Given the description of an element on the screen output the (x, y) to click on. 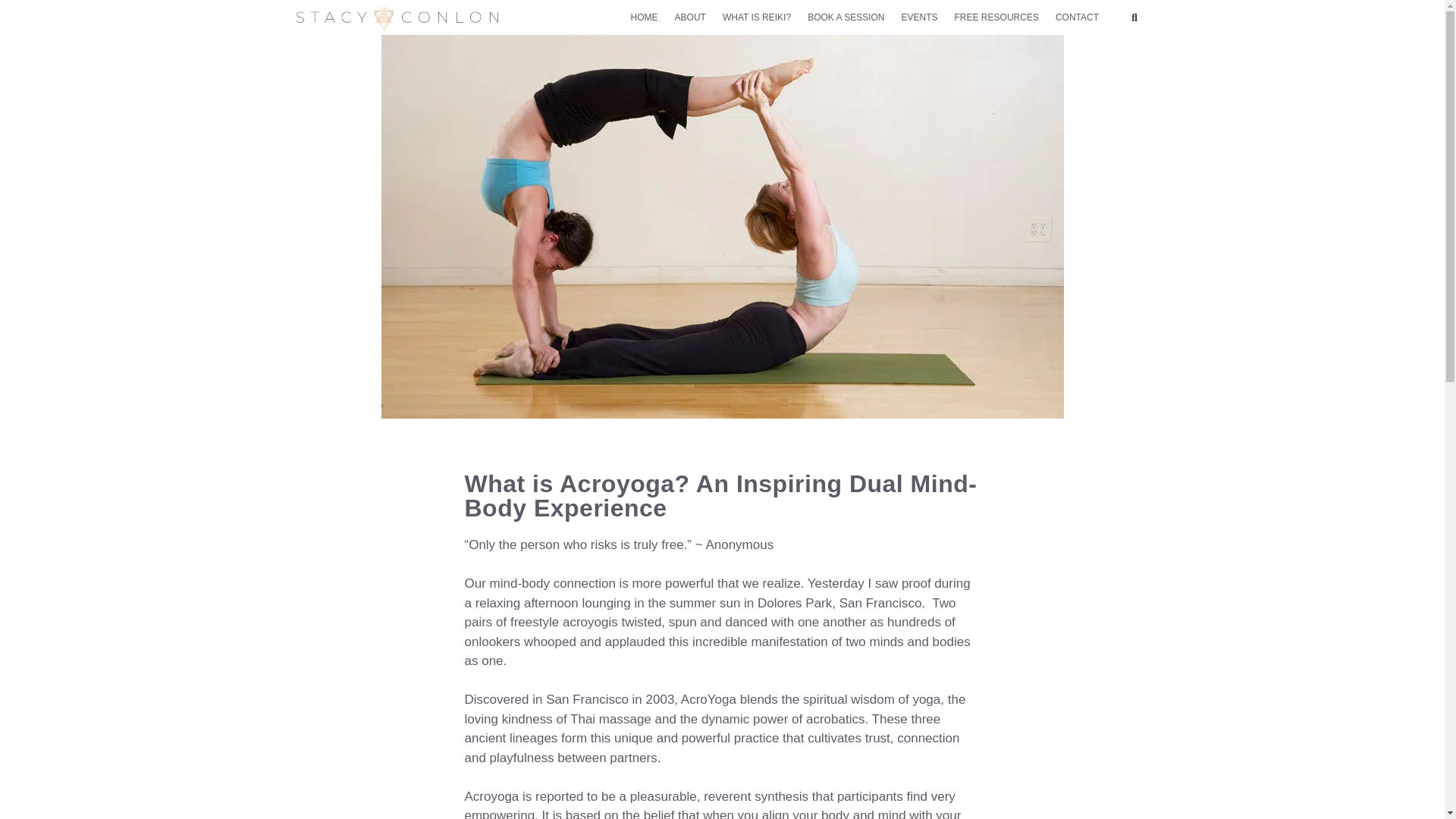
CONTACT (1077, 17)
ABOUT (690, 17)
EVENTS (919, 17)
BOOK A SESSION (845, 17)
FREE RESOURCES (997, 17)
WHAT IS REIKI? (756, 17)
